Given the description of an element on the screen output the (x, y) to click on. 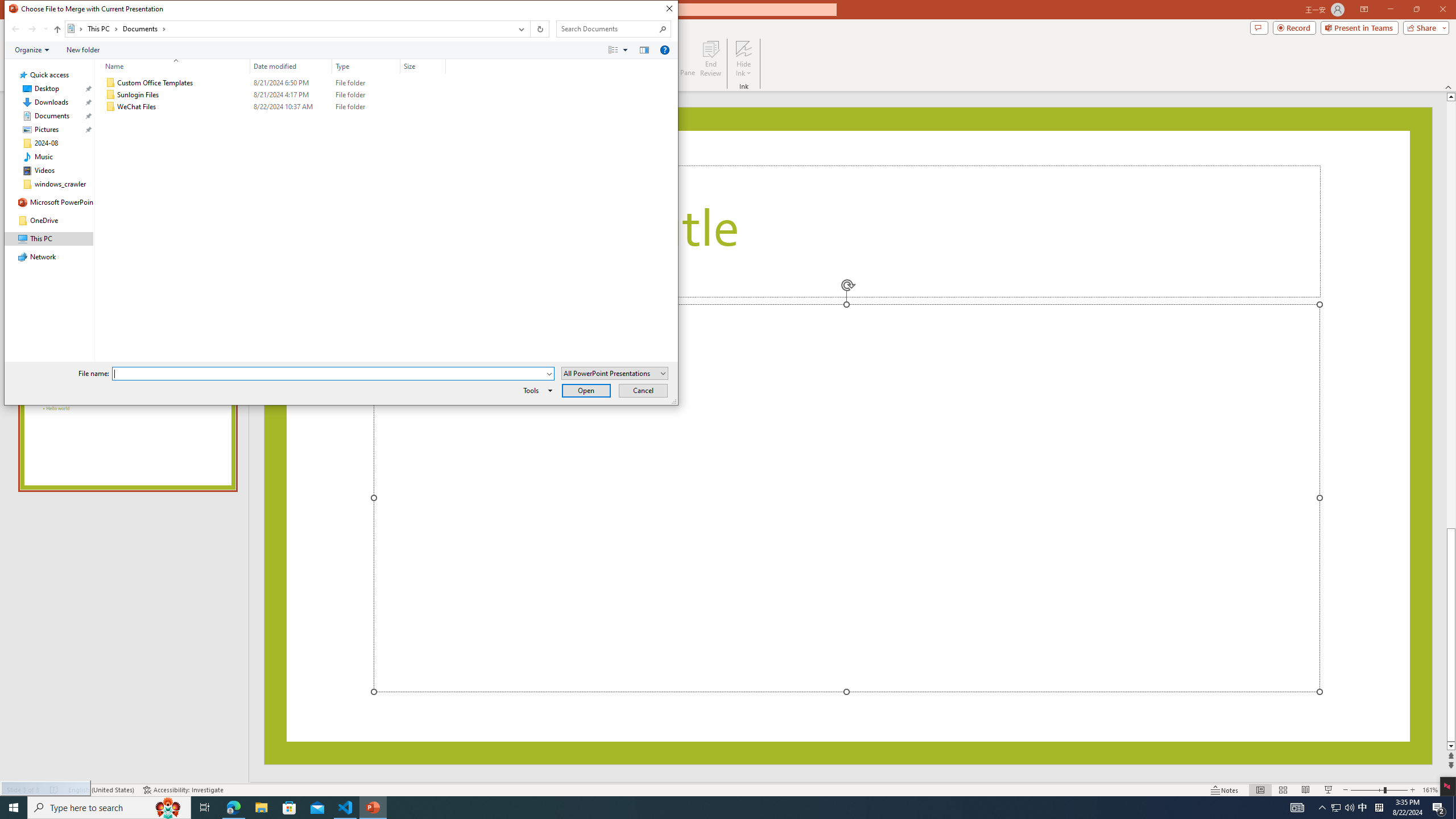
End Review (710, 58)
Show desktop (1454, 807)
Previous Locations (1335, 807)
Filter dropdown (520, 28)
Search highlights icon opens search home window (440, 65)
Class: MsoCommandBar (167, 807)
New folder (728, 789)
Date modified (82, 49)
Action Center, 2 new notifications (290, 65)
